Given the description of an element on the screen output the (x, y) to click on. 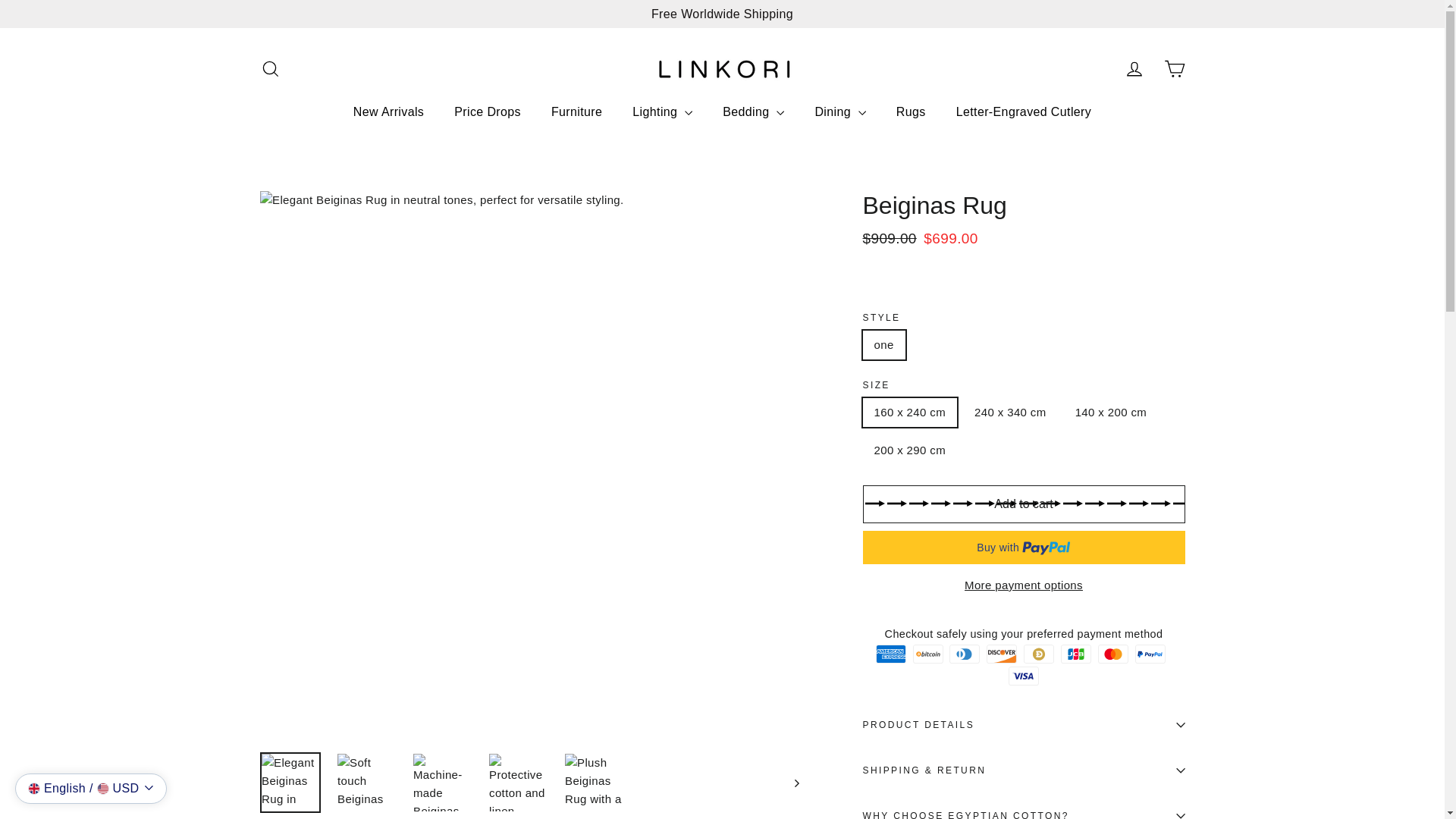
Search (269, 68)
